Given the description of an element on the screen output the (x, y) to click on. 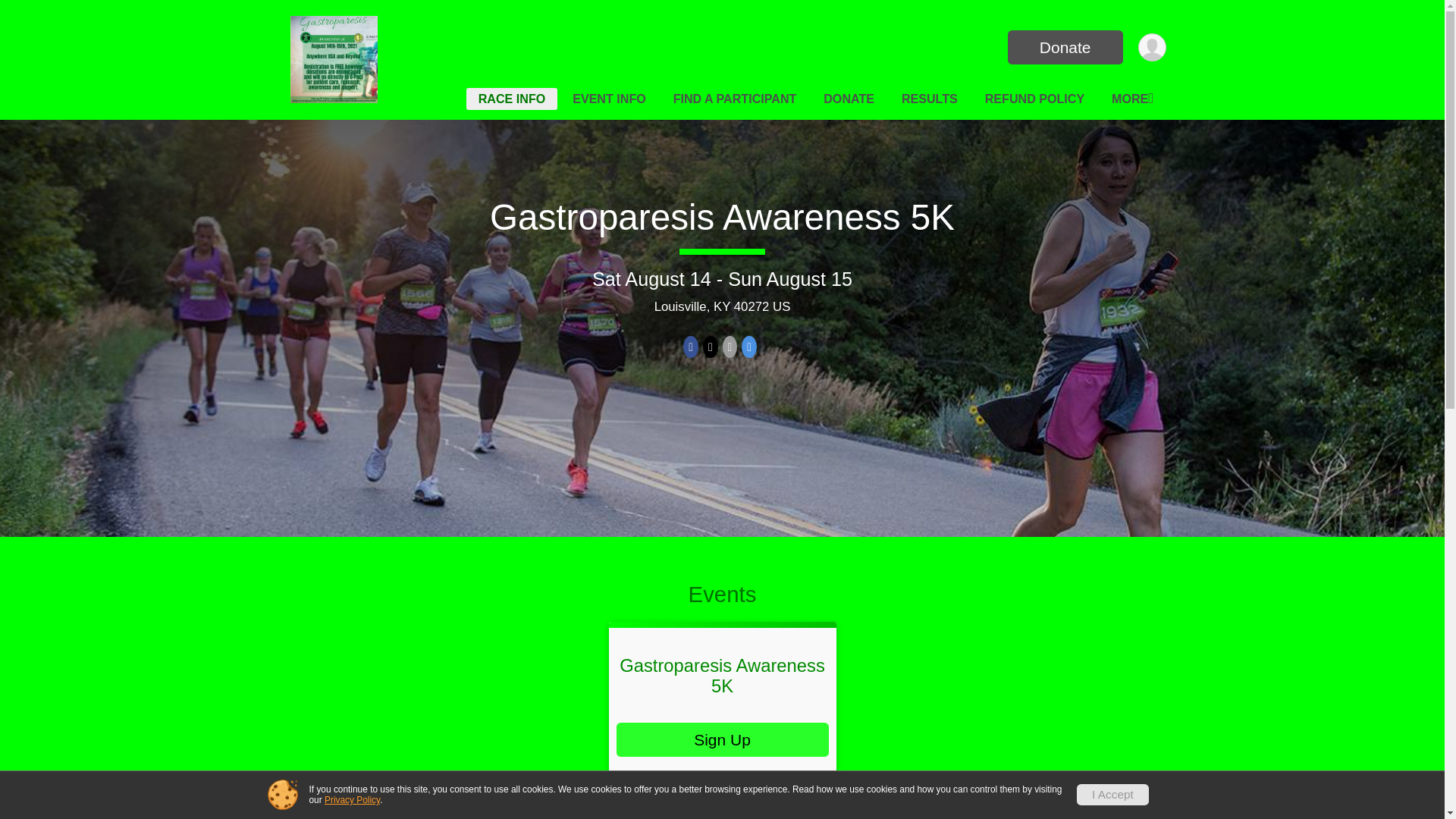
RACE INFO (511, 98)
REFUND POLICY (1034, 98)
RESULTS (929, 98)
DONATE (848, 98)
Gastroparesis Awareness 5K (722, 217)
EVENT INFO (608, 98)
Gastroparesis Awareness 5K (722, 675)
Donate (1064, 47)
Sign Up (721, 739)
MORE (1131, 98)
FIND A PARTICIPANT (735, 98)
